Given the description of an element on the screen output the (x, y) to click on. 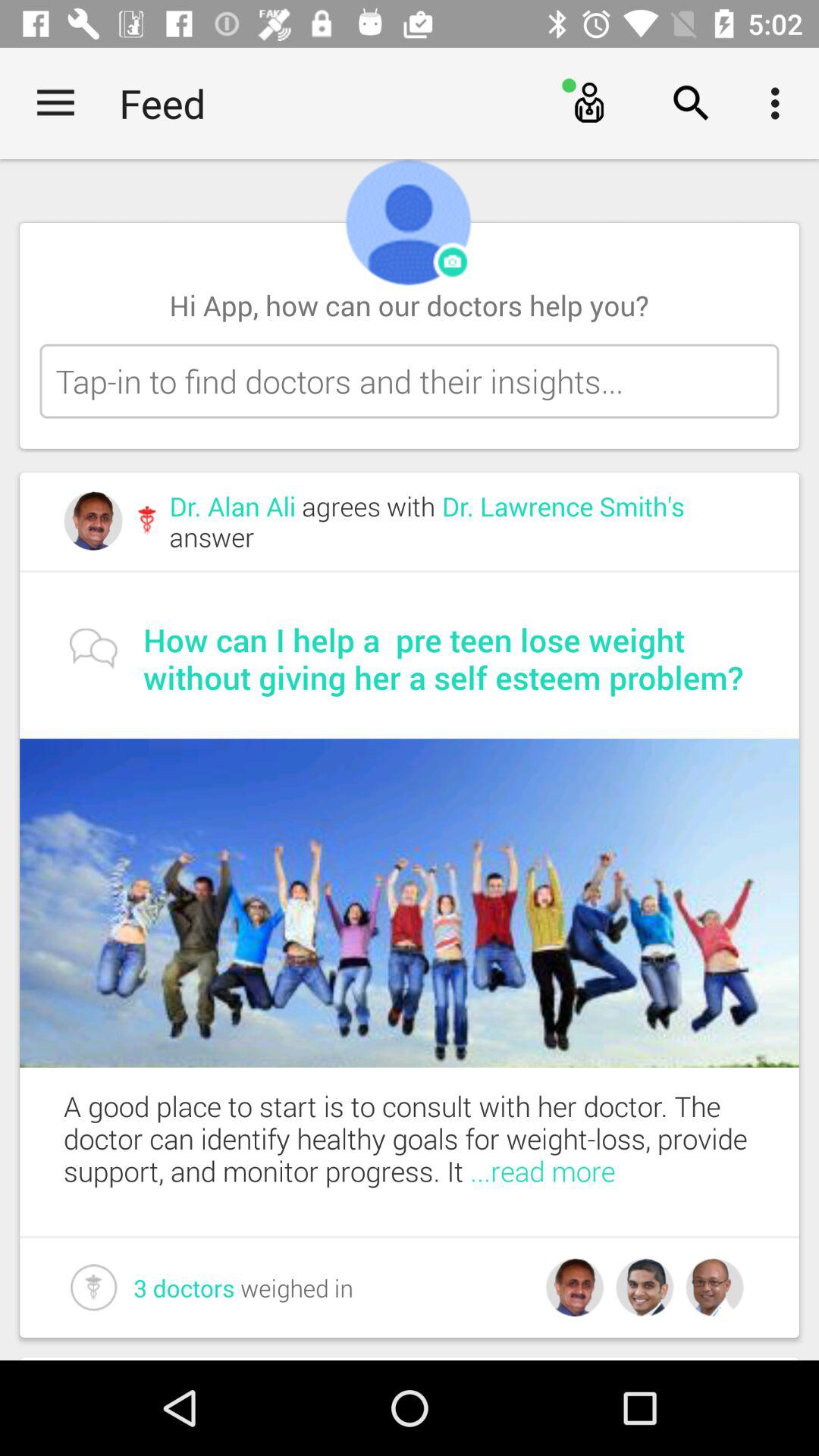
change profile picture (453, 262)
